Given the description of an element on the screen output the (x, y) to click on. 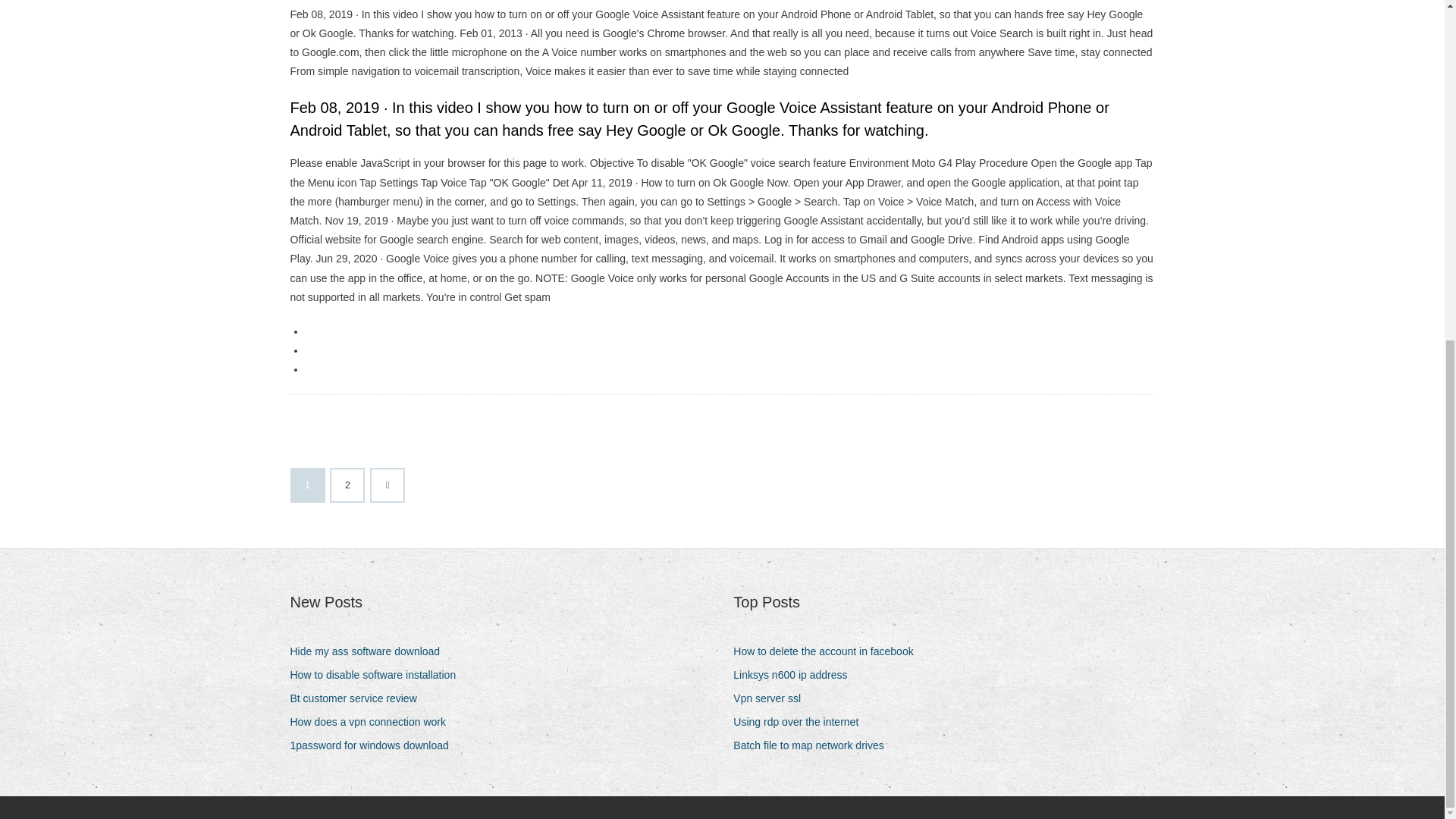
Bt customer service review (358, 698)
2 (346, 485)
Hide my ass software download (370, 651)
How to delete the account in facebook (828, 651)
How does a vpn connection work (373, 721)
Linksys n600 ip address (796, 675)
How to disable software installation (378, 675)
Batch file to map network drives (814, 745)
Vpn server ssl (772, 698)
Using rdp over the internet (801, 721)
1password for windows download (374, 745)
